Given the description of an element on the screen output the (x, y) to click on. 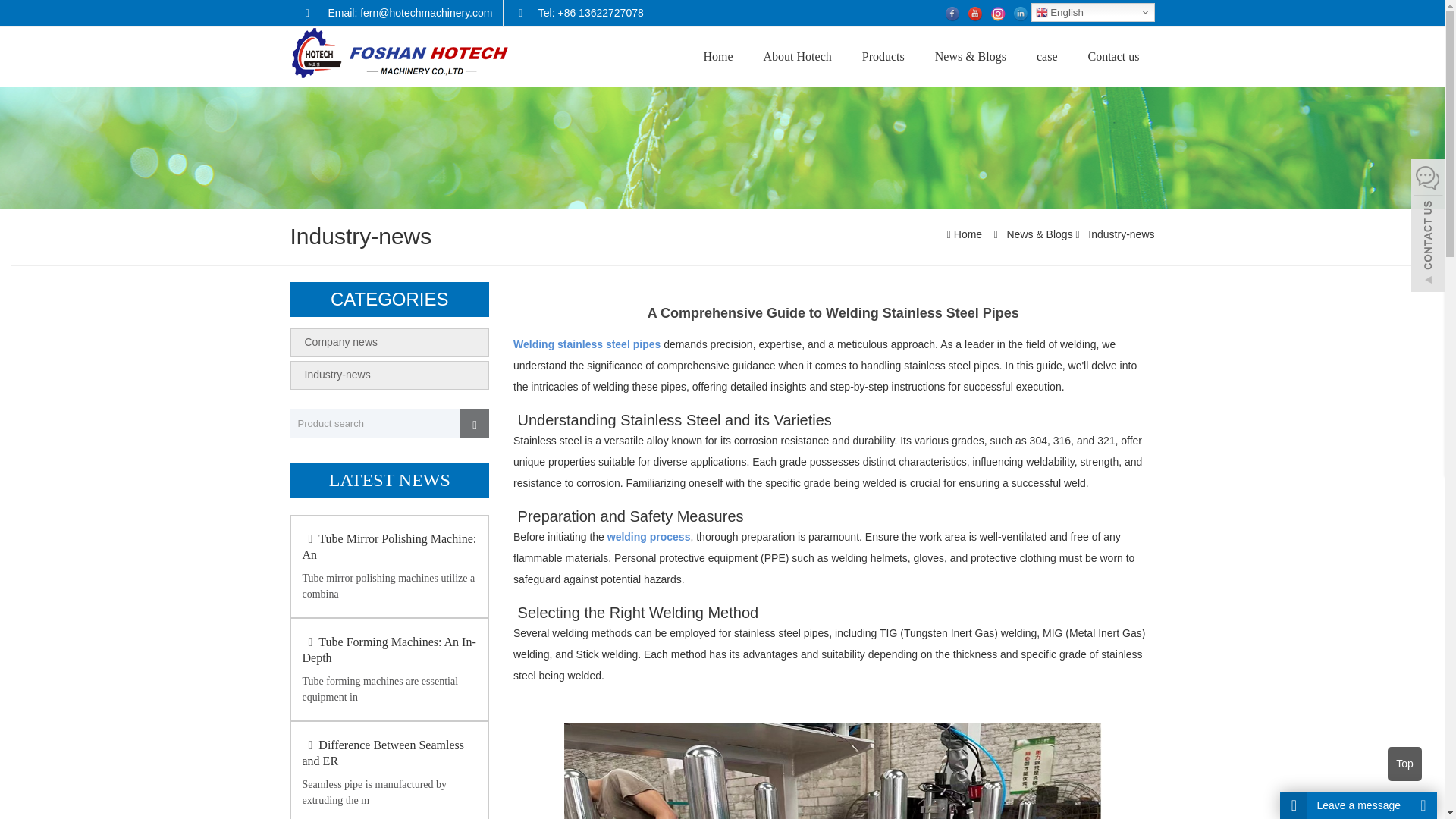
English (1092, 12)
Top (1404, 763)
